Given the description of an element on the screen output the (x, y) to click on. 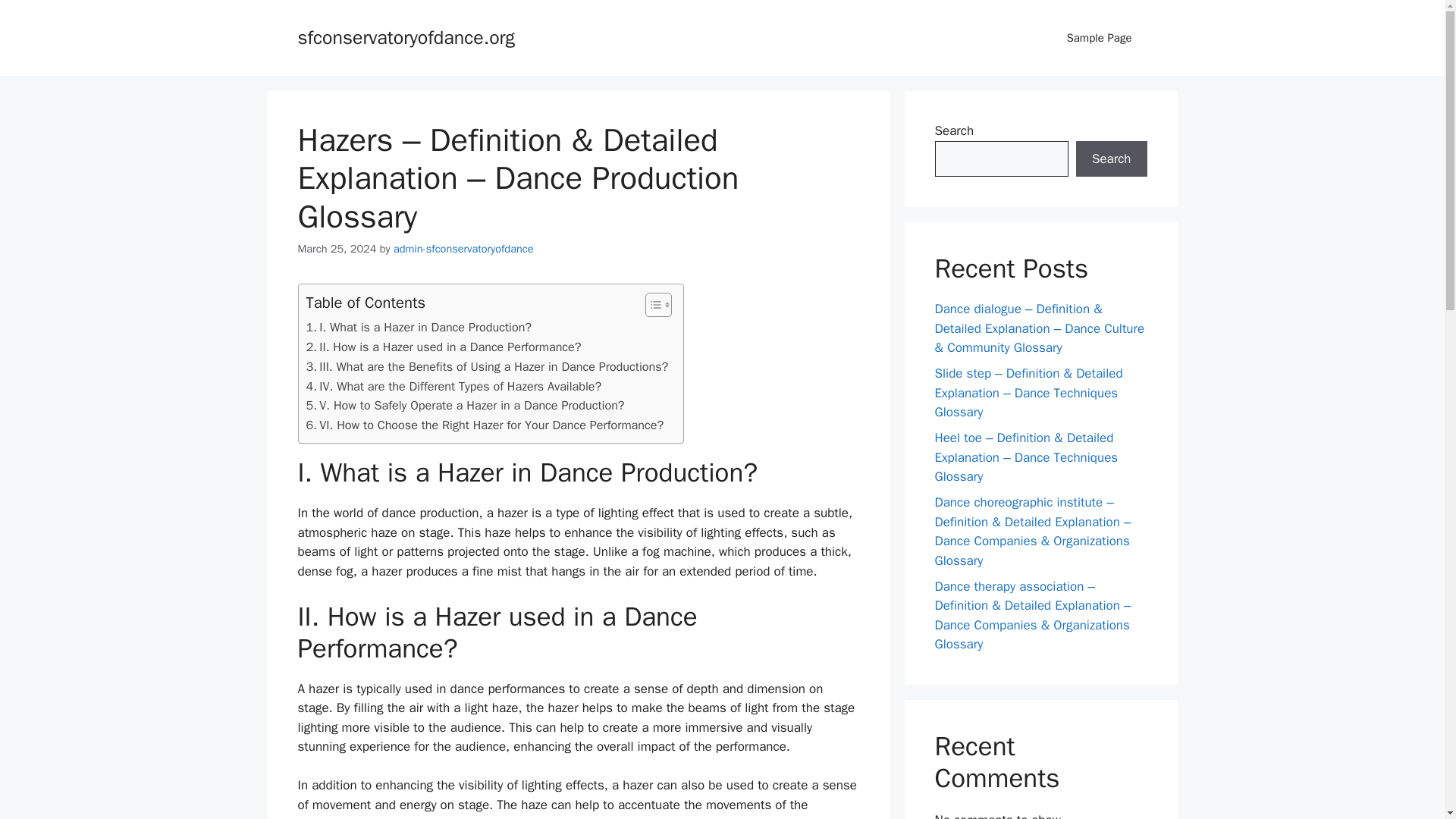
II. How is a Hazer used in a Dance Performance? (442, 347)
IV. What are the Different Types of Hazers Available? (453, 386)
sfconservatoryofdance.org (406, 37)
V. How to Safely Operate a Hazer in a Dance Production? (464, 405)
I. What is a Hazer in Dance Production? (418, 327)
II. How is a Hazer used in a Dance Performance? (442, 347)
V. How to Safely Operate a Hazer in a Dance Production? (464, 405)
I. What is a Hazer in Dance Production? (418, 327)
IV. What are the Different Types of Hazers Available? (453, 386)
